Given the description of an element on the screen output the (x, y) to click on. 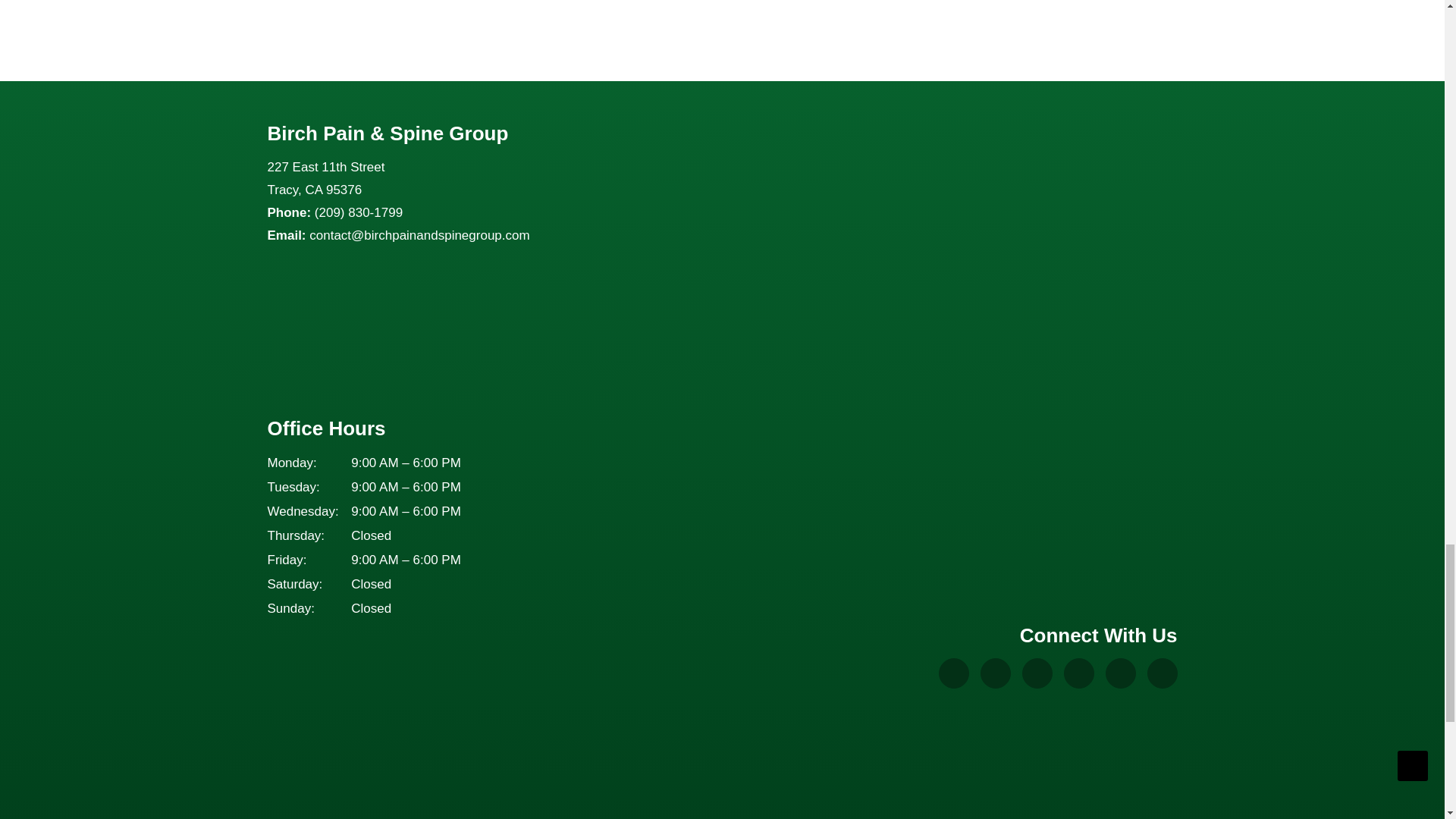
Medical Practice Marketing (1104, 796)
YouTube (1077, 673)
Google My Business (954, 673)
Facebook (994, 673)
Linkedin (1161, 673)
Twitter (1120, 673)
Instagram (1037, 673)
